Given the description of an element on the screen output the (x, y) to click on. 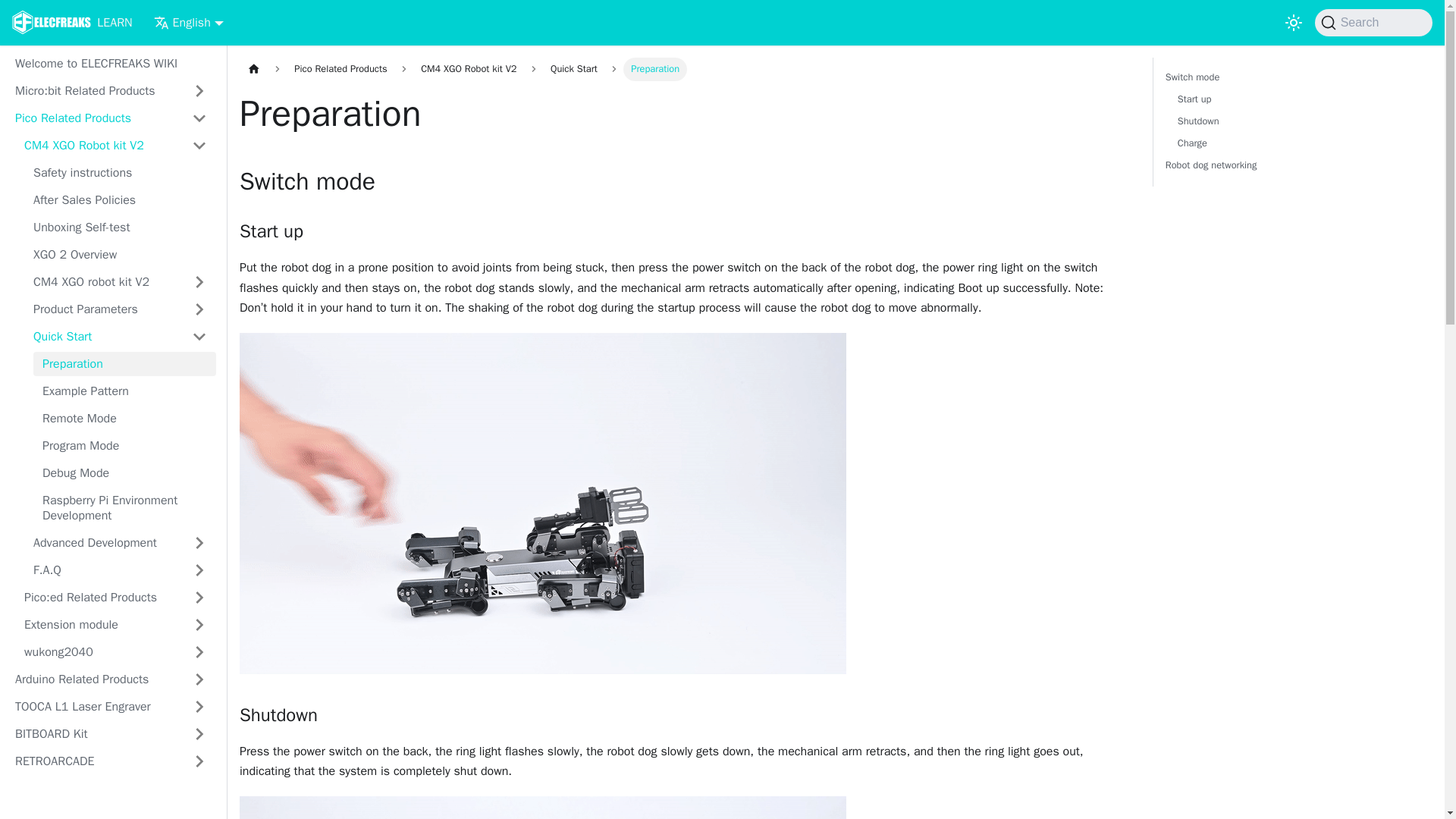
Raspberry Pi Environment Development (1292, 121)
Example Pattern (124, 507)
Debug Mode (124, 391)
Welcome to ELECFREAKS WIKI (124, 473)
CM4 XGO Robot kit V2 (110, 63)
English (98, 145)
Unboxing Self-test (189, 22)
Remote Mode (119, 227)
Preparation (124, 418)
Program Mode (124, 363)
Advanced Development (124, 445)
After Sales Policies (103, 542)
LEARN (119, 200)
Extension module (71, 22)
